Given the description of an element on the screen output the (x, y) to click on. 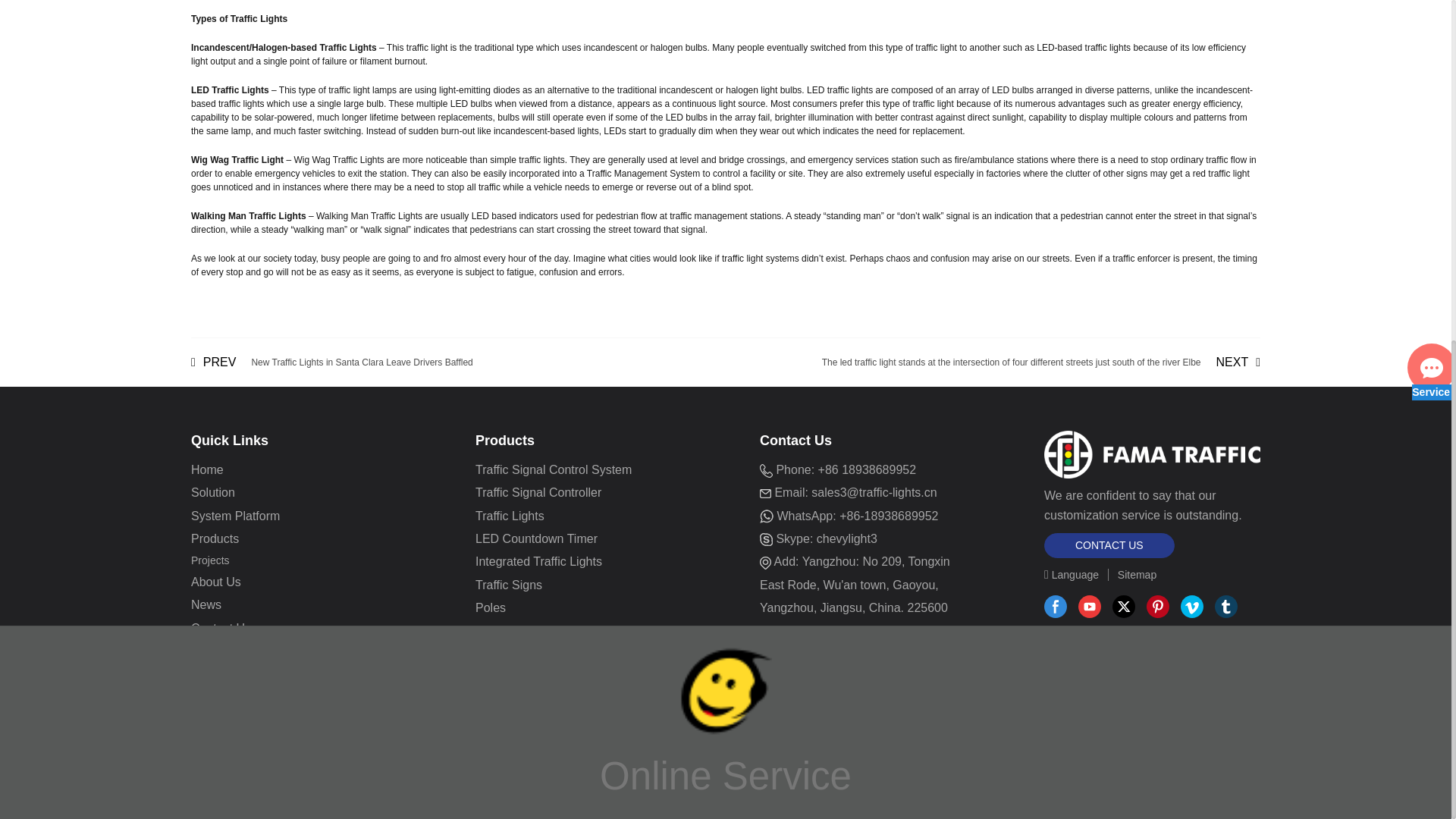
New Traffic Lights in Santa Clara Leave Drivers Baffled (331, 362)
